Given the description of an element on the screen output the (x, y) to click on. 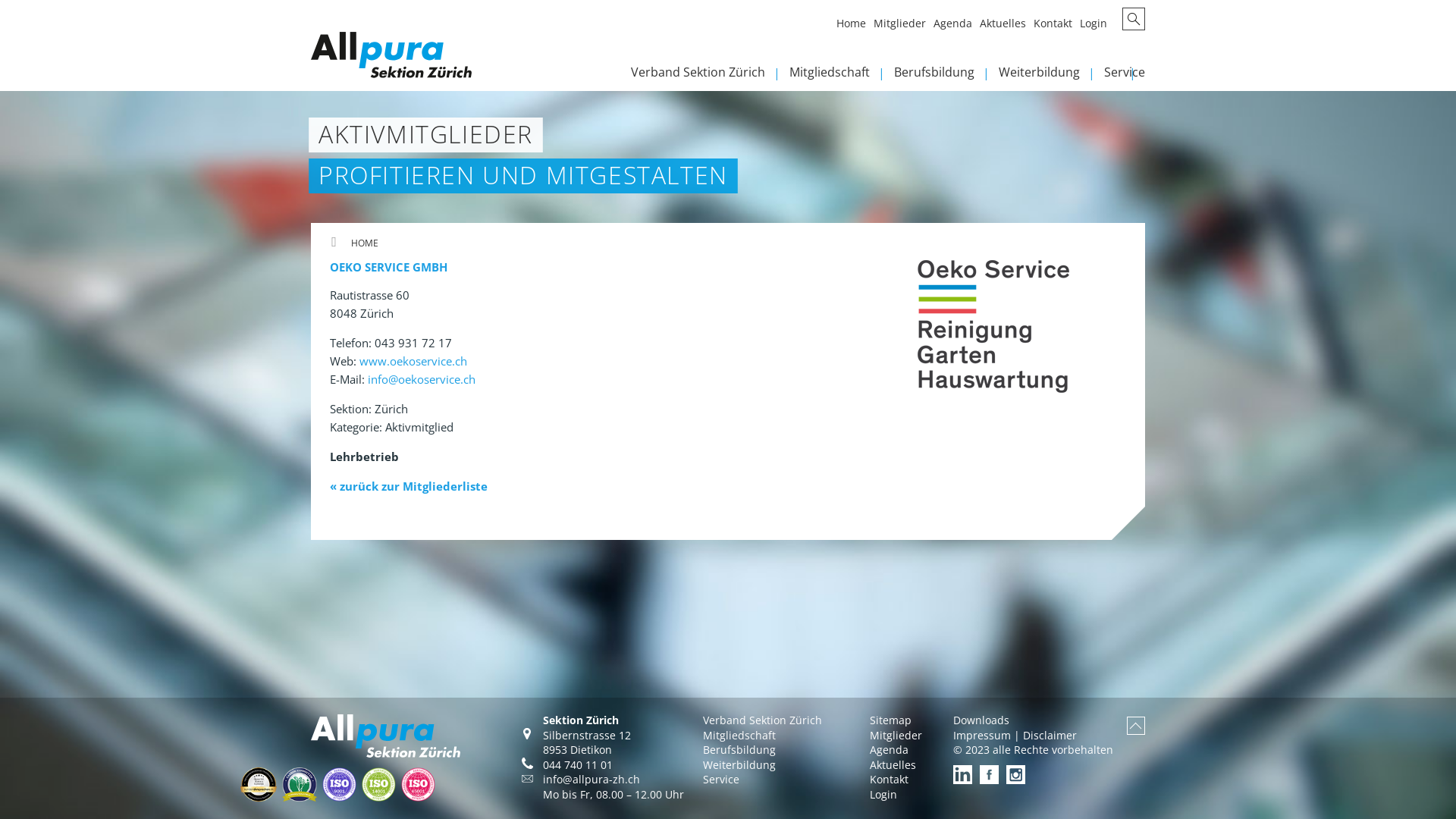
Service Element type: text (1124, 75)
Impressum Element type: text (981, 735)
Mitgliedschaft Element type: text (738, 735)
Mitglieder Element type: text (895, 735)
Weiterbildung Element type: text (1051, 75)
Silbernstrasse 12
8953 Dietikon Element type: text (574, 742)
Login Element type: text (1096, 26)
Kontakt Element type: text (888, 778)
Downloads Element type: text (981, 719)
044 740 11 01 Element type: text (577, 764)
Weiterbildung Element type: text (738, 764)
Aktuelles Element type: text (1006, 26)
Agenda Element type: text (956, 26)
www.oekoservice.ch Element type: text (413, 360)
Kontakt Element type: text (1056, 26)
info@oekoservice.ch Element type: text (421, 378)
Login Element type: text (883, 794)
Sitemap Element type: text (890, 719)
Service Element type: text (720, 778)
TOP Element type: text (1135, 725)
Aktuelles Element type: text (892, 764)
Berufsbildung Element type: text (738, 749)
Home Element type: text (854, 26)
info@allpura-zh.ch Element type: text (591, 778)
Agenda Element type: text (888, 749)
Berufsbildung Element type: text (946, 75)
Disclaimer Element type: text (1049, 735)
Mitglieder Element type: text (903, 26)
Mitgliedschaft Element type: text (841, 75)
